Given the description of an element on the screen output the (x, y) to click on. 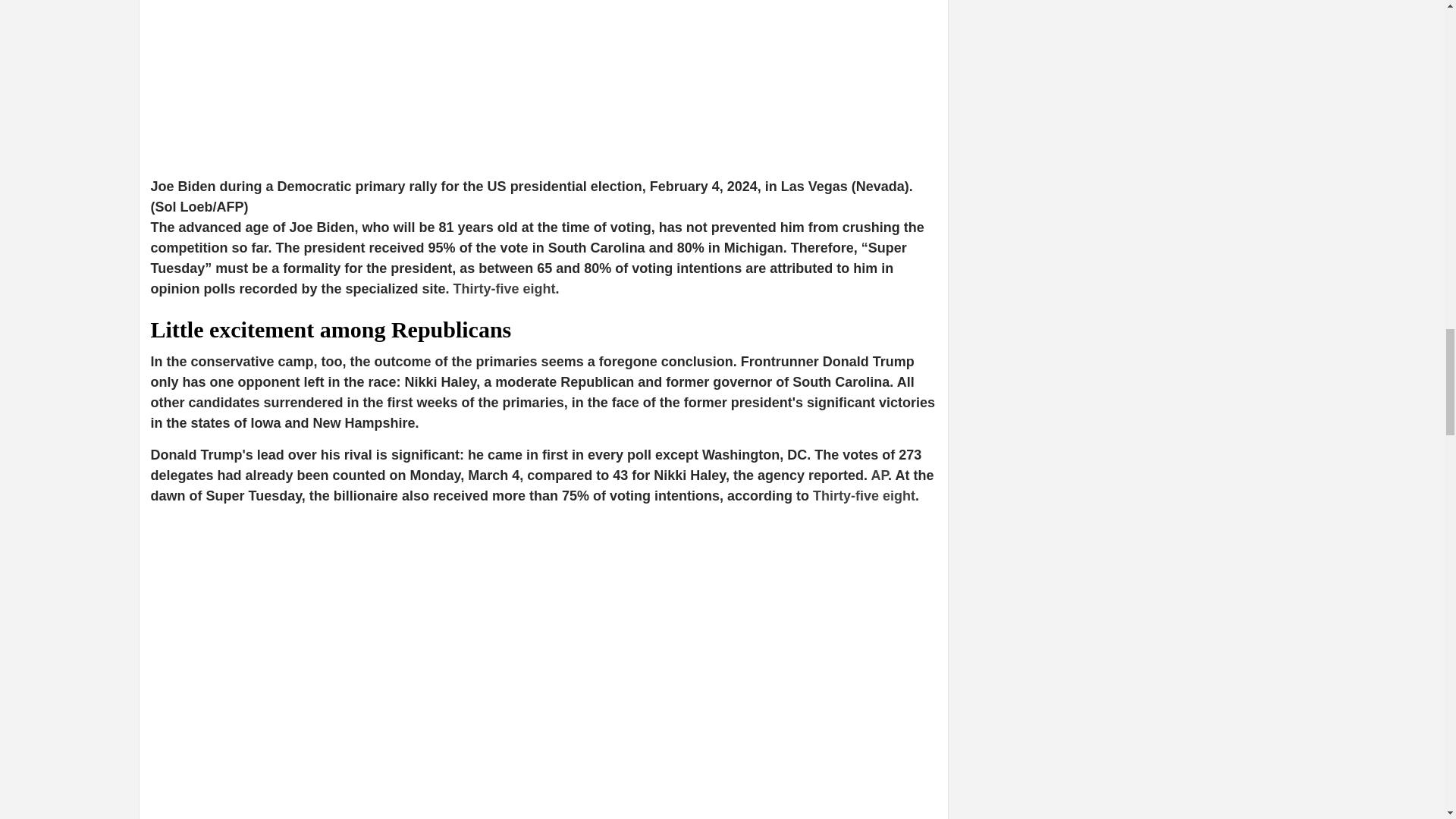
Thirty-five eight (504, 288)
AP (879, 475)
Thirty-five eight (863, 495)
